Given the description of an element on the screen output the (x, y) to click on. 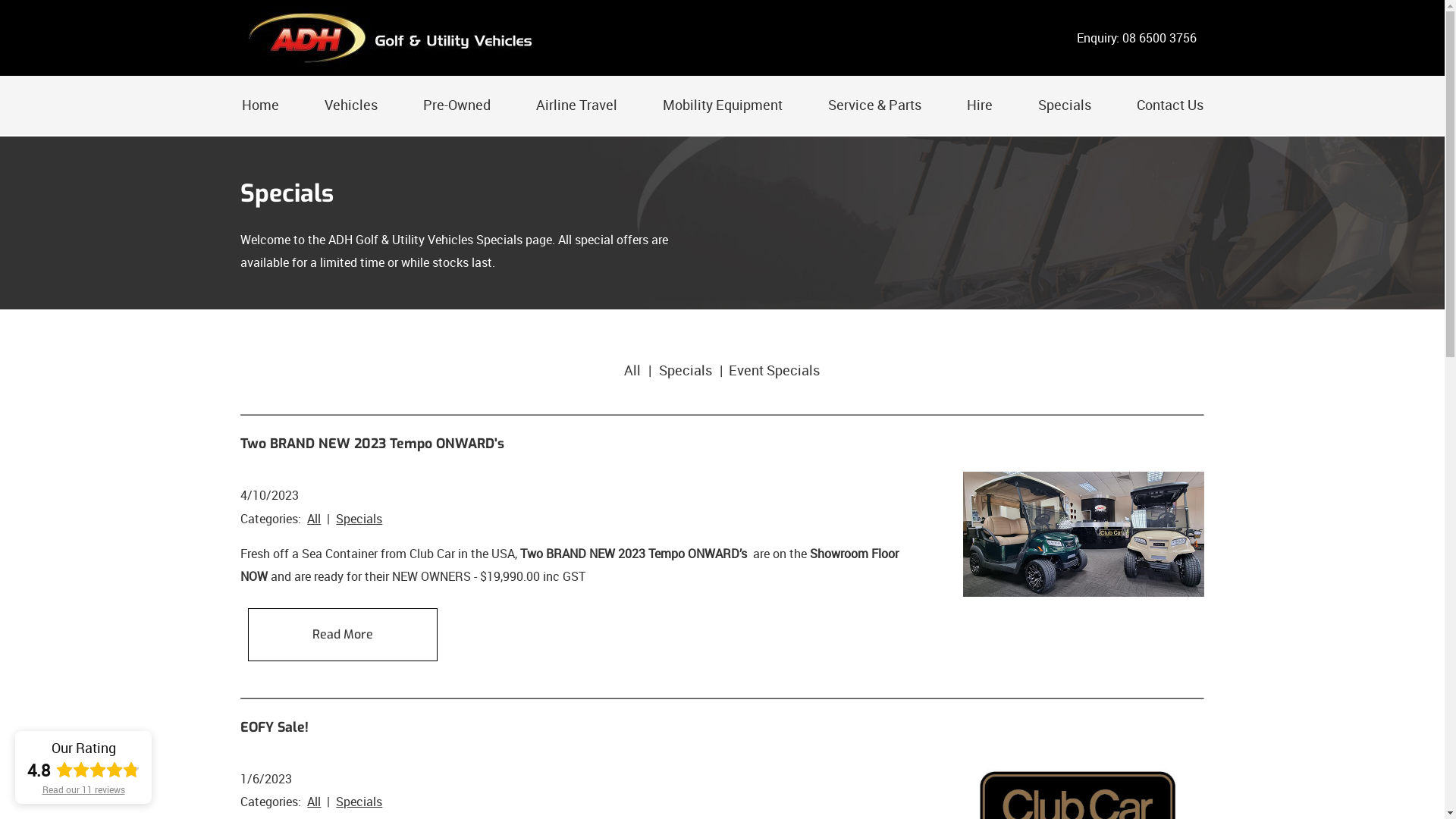
Airline Travel Element type: text (575, 104)
Vehicles Element type: text (350, 104)
Mobility Equipment Element type: text (722, 104)
Specials Element type: text (1063, 104)
Event Specials Element type: text (773, 369)
All Element type: text (313, 518)
All Element type: text (313, 801)
Specials Element type: text (358, 801)
Contact Us Element type: text (1169, 104)
Read More Element type: text (342, 634)
Home Element type: text (259, 104)
Pre-Owned Element type: text (456, 104)
All Element type: text (632, 369)
Specials Element type: text (685, 369)
Hire Element type: text (978, 104)
Service & Parts Element type: text (874, 104)
08 6500 3756 Element type: text (1159, 37)
Specials Element type: text (358, 518)
